Given the description of an element on the screen output the (x, y) to click on. 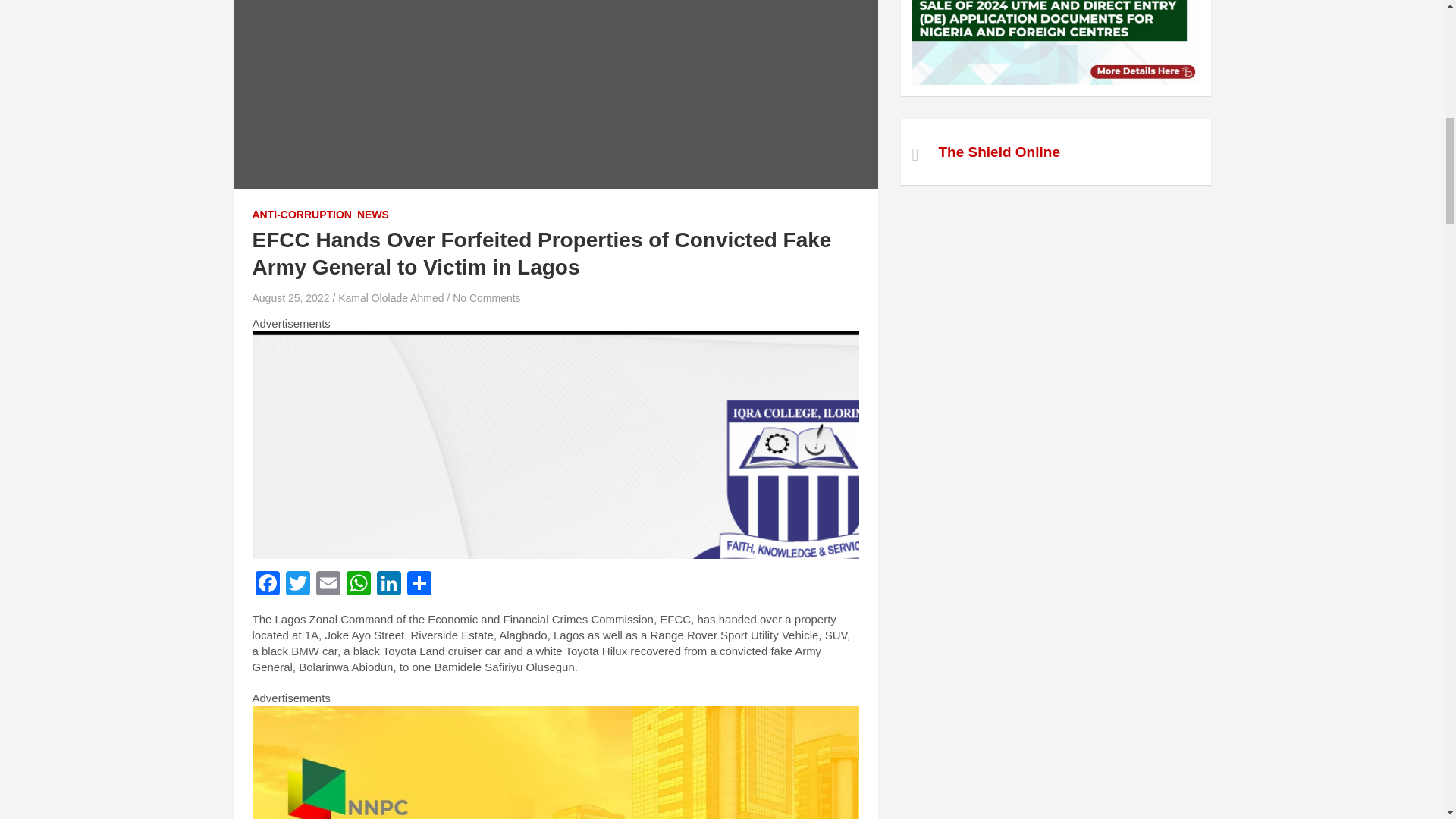
Twitter (297, 584)
NEWS (372, 215)
Facebook (266, 584)
Email (327, 584)
Twitter (297, 584)
WhatsApp (357, 584)
LinkedIn (387, 584)
LinkedIn (387, 584)
Email (327, 584)
